Given the description of an element on the screen output the (x, y) to click on. 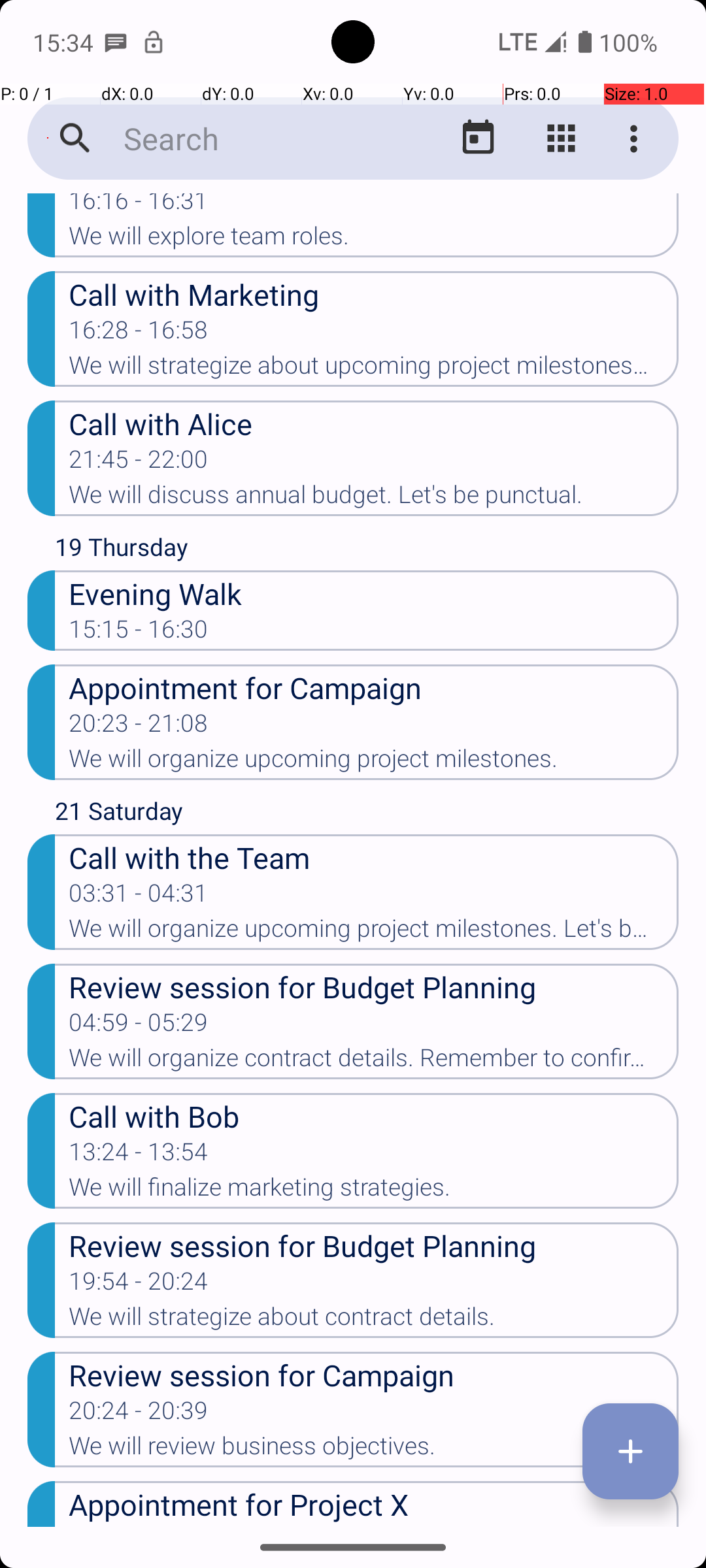
21 Saturday Element type: android.widget.TextView (366, 813)
16:16 - 16:31 Element type: android.widget.TextView (137, 207)
We will explore team roles. Element type: android.widget.TextView (373, 239)
16:28 - 16:58 Element type: android.widget.TextView (137, 333)
We will strategize about upcoming project milestones. Remember to confirm attendance. Element type: android.widget.TextView (373, 368)
21:45 - 22:00 Element type: android.widget.TextView (137, 462)
We will discuss annual budget. Let's be punctual. Element type: android.widget.TextView (373, 498)
Evening Walk Element type: android.widget.TextView (373, 592)
15:15 - 16:30 Element type: android.widget.TextView (137, 632)
20:23 - 21:08 Element type: android.widget.TextView (137, 726)
We will organize upcoming project milestones. Element type: android.widget.TextView (373, 762)
03:31 - 04:31 Element type: android.widget.TextView (137, 896)
We will organize upcoming project milestones. Let's be punctual. Element type: android.widget.TextView (373, 931)
04:59 - 05:29 Element type: android.widget.TextView (137, 1026)
We will organize contract details. Remember to confirm attendance. Element type: android.widget.TextView (373, 1061)
Call with Bob Element type: android.widget.TextView (373, 1115)
13:24 - 13:54 Element type: android.widget.TextView (137, 1155)
We will finalize marketing strategies. Element type: android.widget.TextView (373, 1190)
19:54 - 20:24 Element type: android.widget.TextView (137, 1284)
We will strategize about contract details. Element type: android.widget.TextView (373, 1320)
20:24 - 20:39 Element type: android.widget.TextView (137, 1414)
We will review business objectives. Element type: android.widget.TextView (373, 1449)
22:37 - 23:07 Element type: android.widget.TextView (137, 1526)
